Given the description of an element on the screen output the (x, y) to click on. 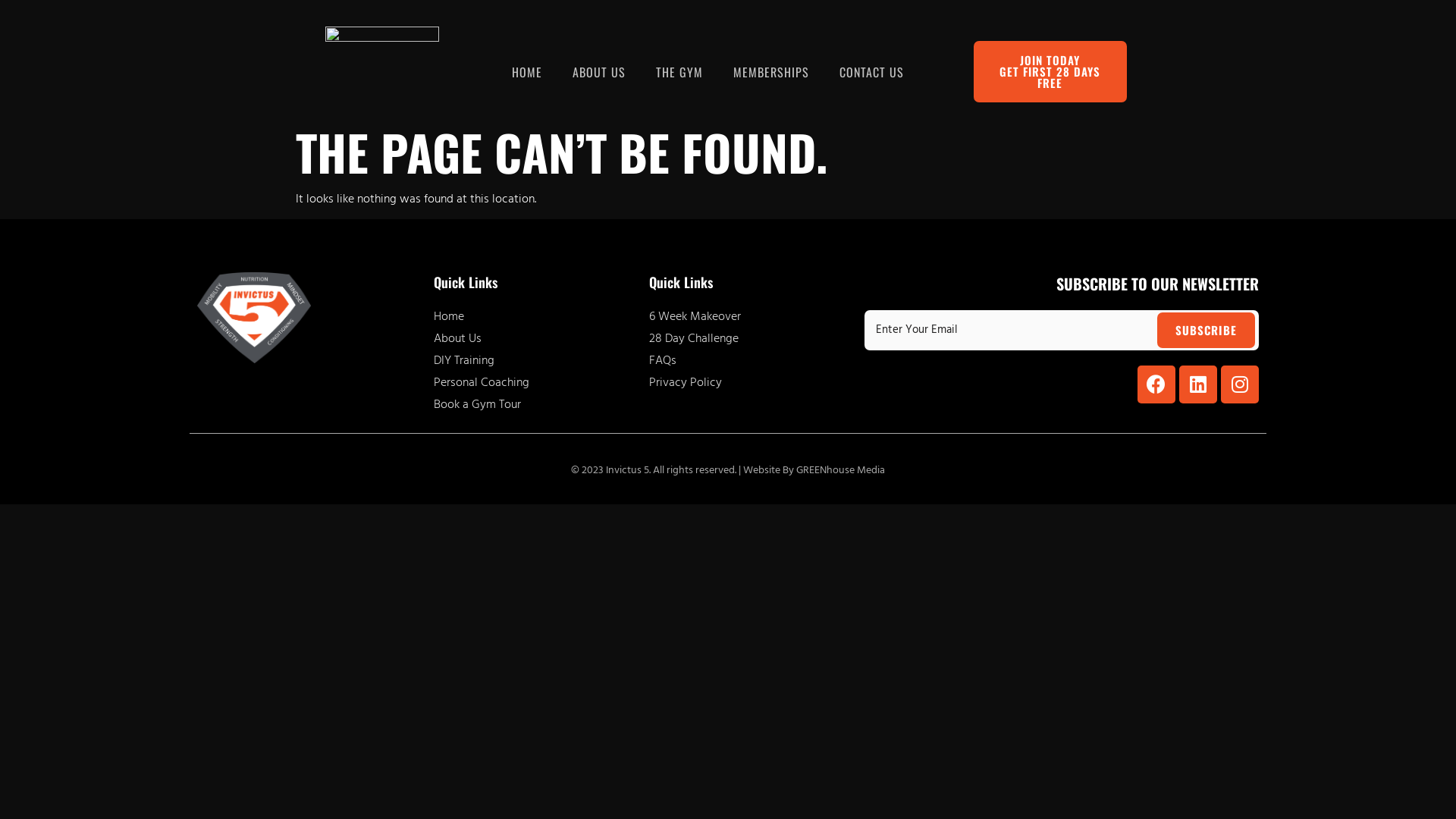
DIY Training Element type: text (533, 360)
MEMBERSHIPS Element type: text (771, 71)
JOIN TODAY
GET FIRST 28 DAYS FREE Element type: text (1049, 71)
6 Week Makeover Element type: text (749, 316)
HOME Element type: text (526, 71)
FAQs Element type: text (749, 360)
GREENhouse Media Element type: text (840, 470)
Privacy Policy Element type: text (749, 382)
Personal Coaching Element type: text (533, 382)
About Us Element type: text (533, 338)
ABOUT US Element type: text (598, 71)
THE GYM Element type: text (679, 71)
Book a Gym Tour Element type: text (533, 404)
CONTACT US Element type: text (871, 71)
Home Element type: text (533, 316)
28 Day Challenge Element type: text (749, 338)
Subscribe Element type: text (1206, 330)
